Given the description of an element on the screen output the (x, y) to click on. 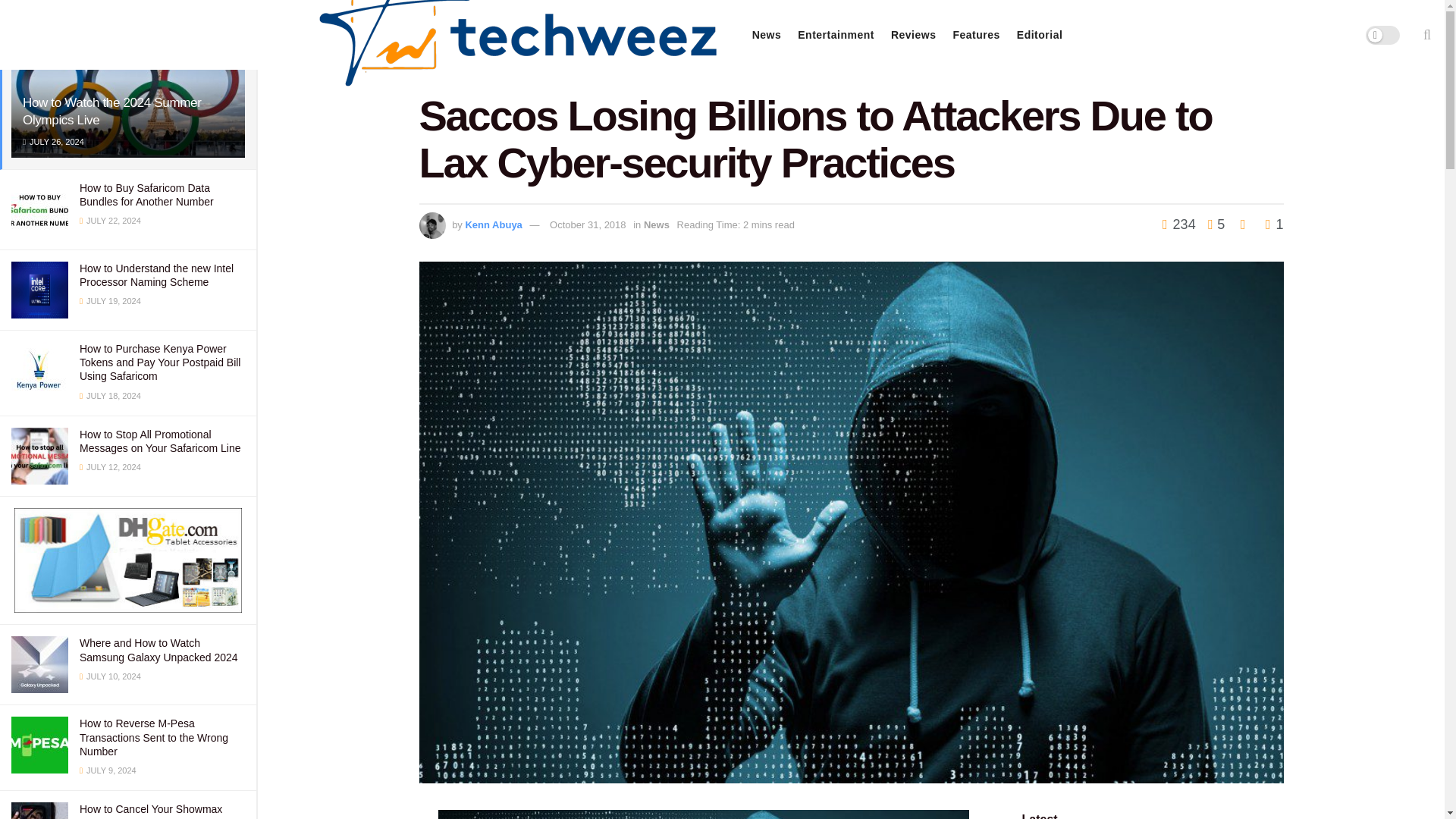
How to Reverse M-Pesa Transactions Sent to the Wrong Number (154, 736)
How to Stop All Promotional Messages on Your Safaricom Line (160, 441)
Reviews (913, 34)
How to Cancel Your Showmax Subscription on Phone (151, 811)
News (766, 34)
Where and How to Watch Samsung Galaxy Unpacked 2024 (159, 649)
Editorial (1039, 34)
How to Watch the 2024 Summer Olympics Live (112, 111)
Entertainment (836, 34)
DHgate Tablet Cases deals (127, 559)
How to Buy Safaricom Data Bundles for Another Number (147, 194)
How to Understand the new Intel Processor Naming Scheme (156, 275)
Features (975, 34)
